Given the description of an element on the screen output the (x, y) to click on. 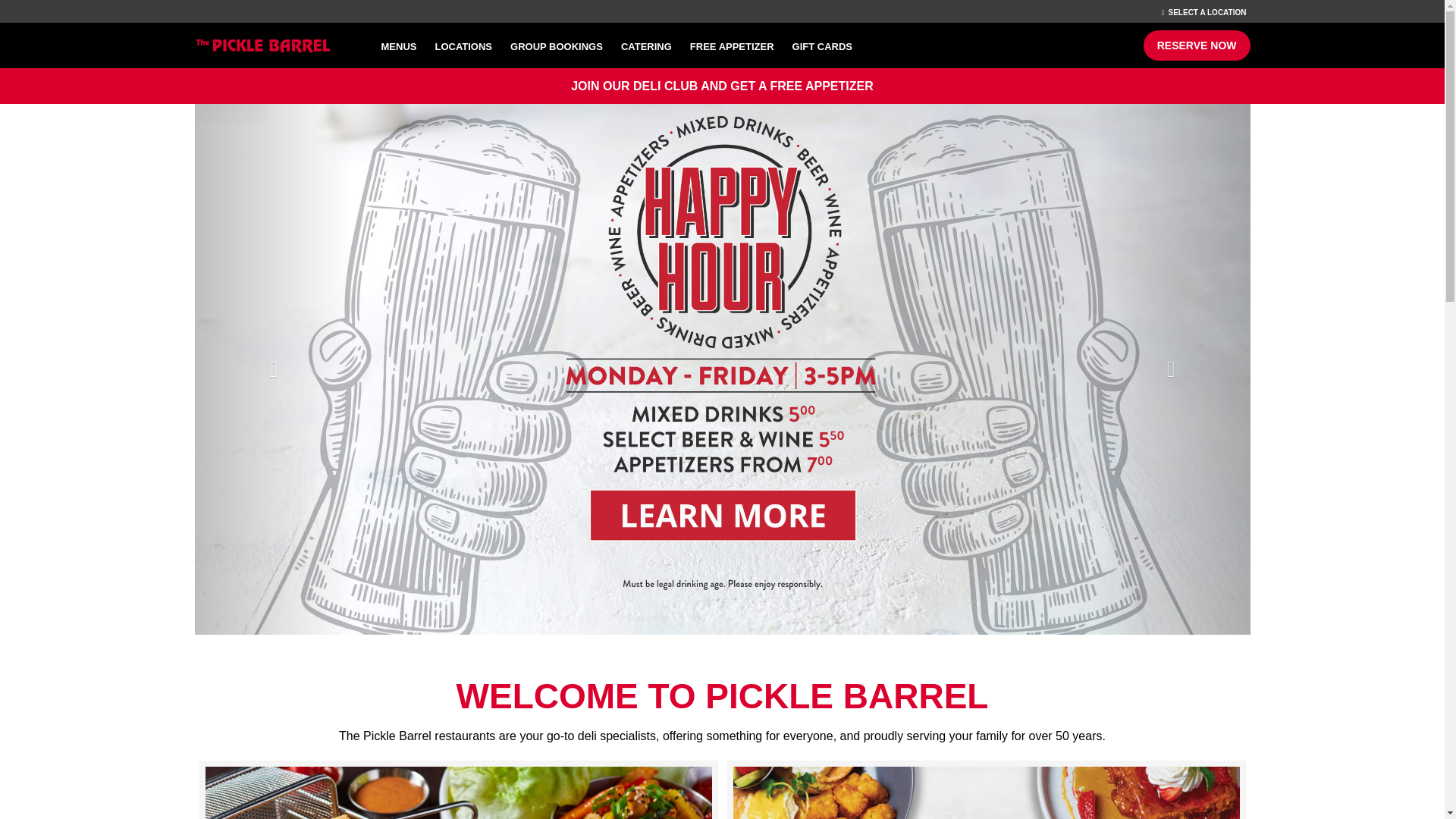
FREE APPETIZER (732, 44)
GIFT CARDS (822, 44)
MENUS (398, 44)
GROUP BOOKINGS (555, 44)
LOCATIONS (462, 44)
RESERVE NOW (1196, 45)
CATERING (646, 44)
JOIN OUR DELI CLUB AND GET A FREE APPETIZER (725, 85)
SELECT A LOCATION (1207, 12)
